Given the description of an element on the screen output the (x, y) to click on. 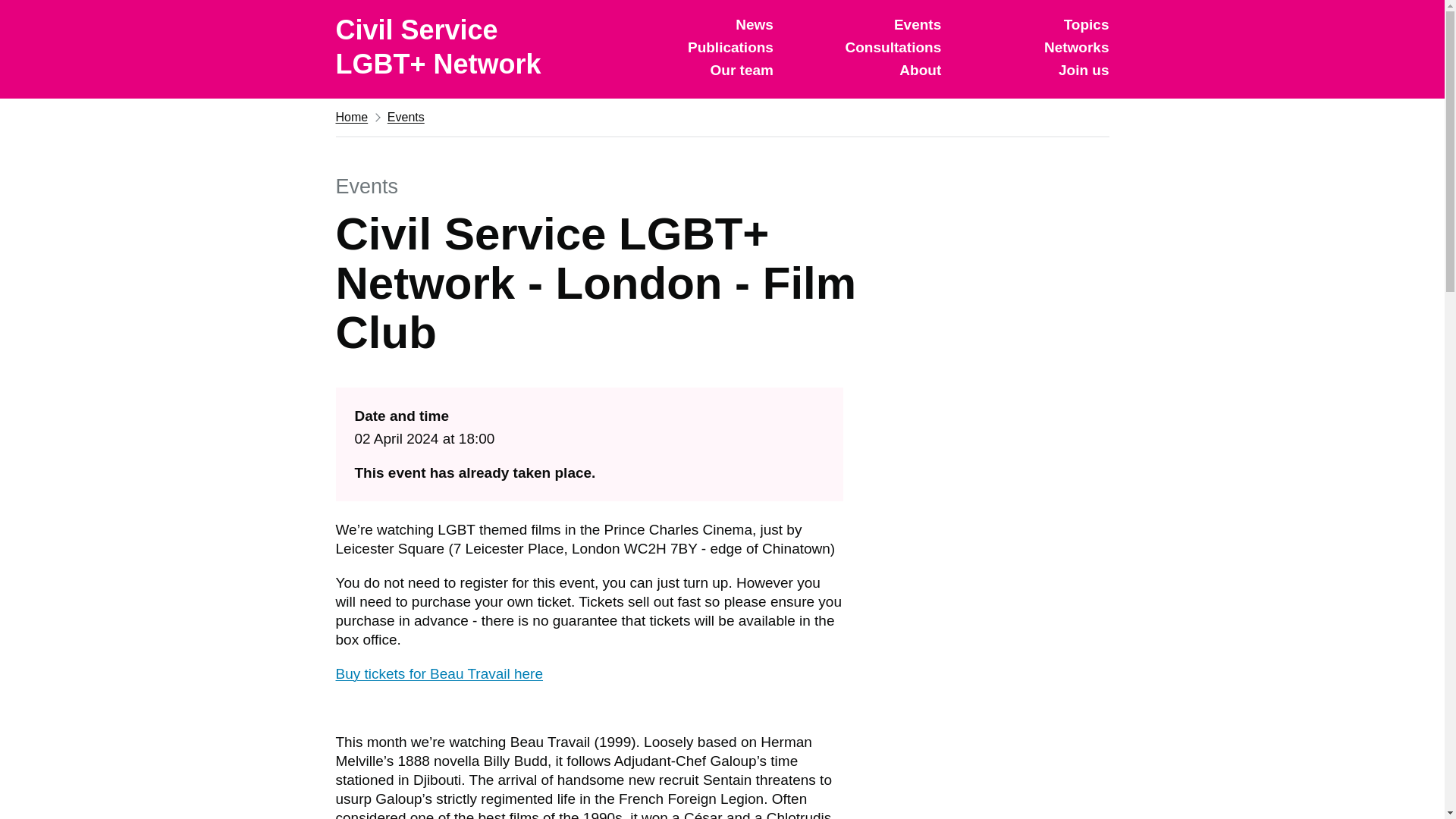
Visit the Events page (916, 24)
Visit the News page (754, 24)
Events (916, 24)
Publications (730, 47)
News (754, 24)
Visit the Networks page (1076, 47)
About (919, 69)
Topics (1086, 24)
Our team (741, 69)
Home (351, 116)
